Given the description of an element on the screen output the (x, y) to click on. 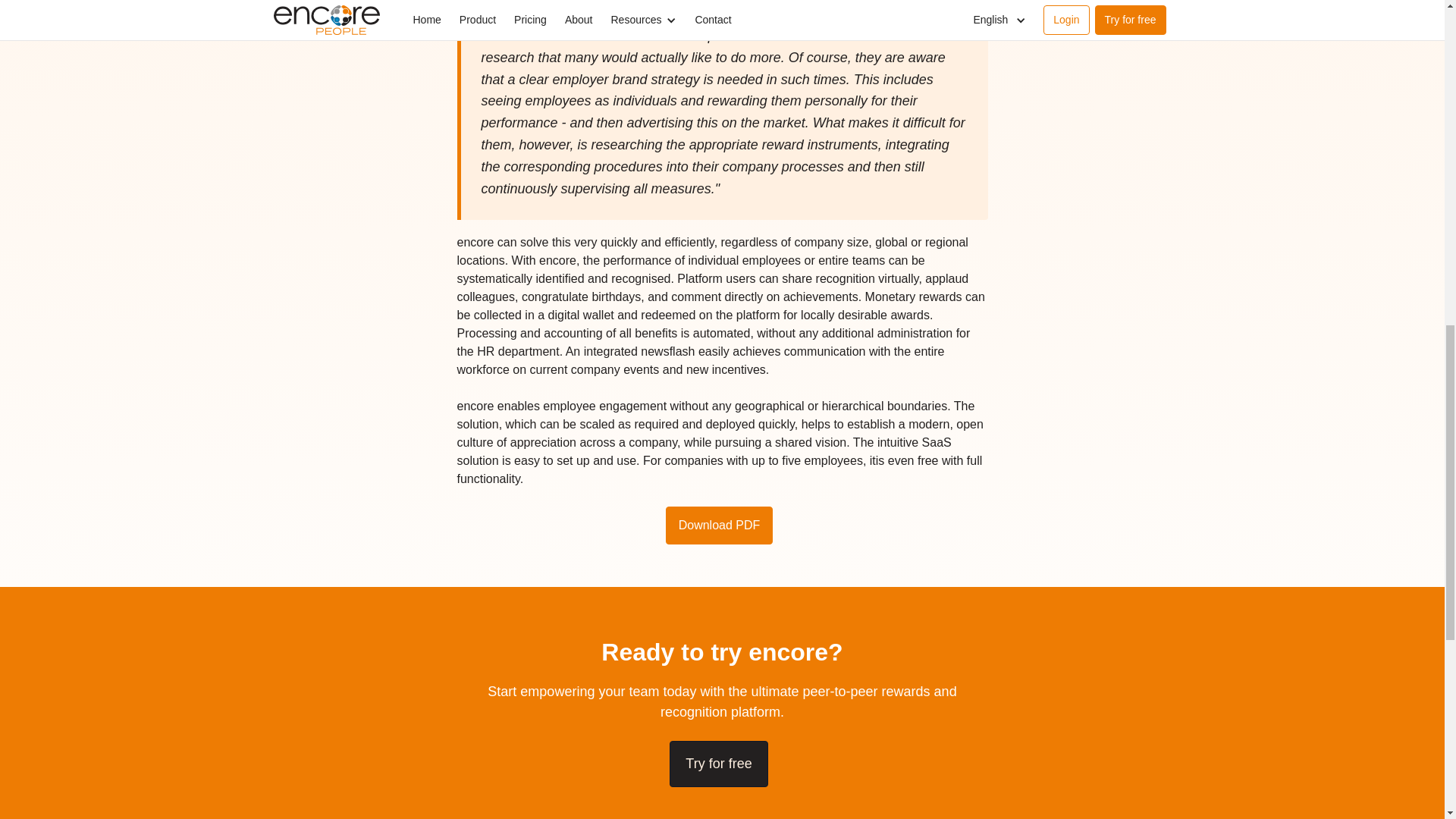
Download PDF (719, 525)
Try for free (718, 764)
